Given the description of an element on the screen output the (x, y) to click on. 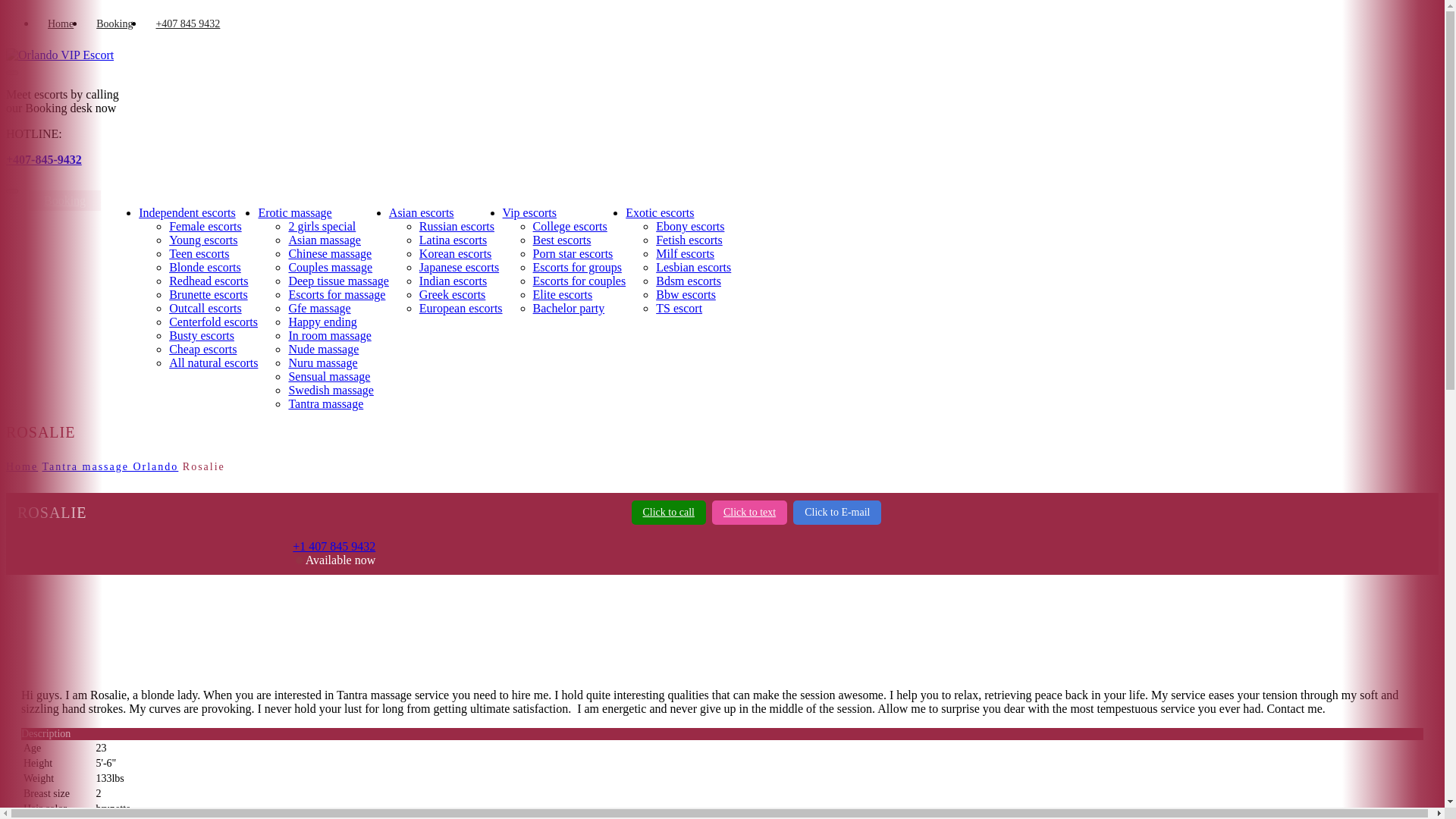
Swedish massage (330, 390)
Teen escorts (198, 253)
Cheap escorts (201, 349)
Deep tissue massage (338, 280)
Booking (114, 23)
Redhead escorts (207, 280)
Gfe massage (319, 308)
Tantra massage (325, 403)
Orlando VIP Escort (59, 55)
Sensual massage (328, 376)
